Given the description of an element on the screen output the (x, y) to click on. 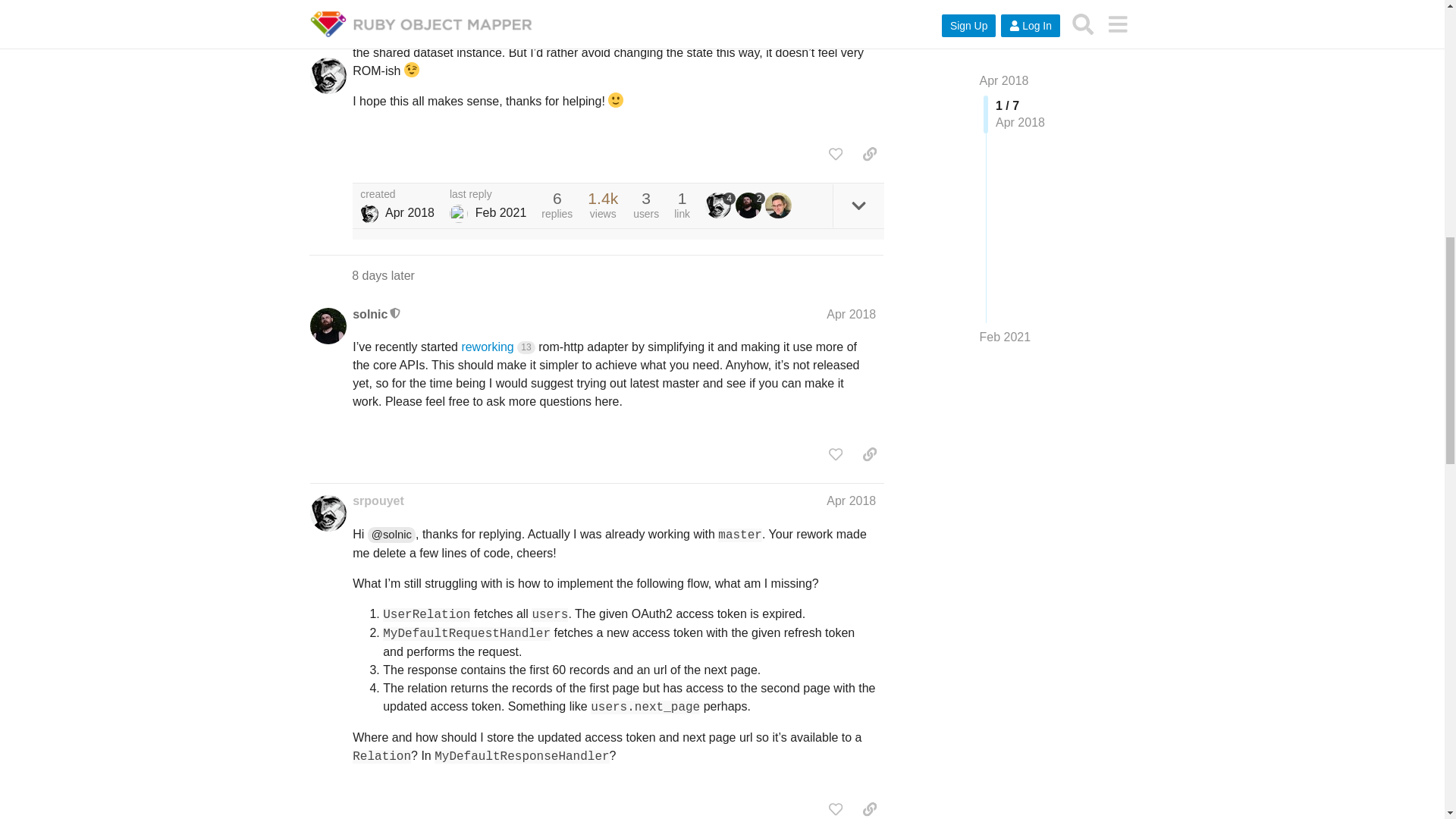
last reply (487, 194)
expand topic details (857, 205)
solnic (369, 314)
Apr 18, 2018 6:10 pm (409, 212)
Sebastiaan Pouyet (368, 213)
2 (750, 205)
4 (719, 205)
:wink: (411, 69)
Apr 2018 (851, 314)
reworking 13 (497, 346)
copy a link to this post to clipboard (869, 153)
srpouyet (378, 501)
like this post (835, 153)
Apr 2018 (851, 500)
